Given the description of an element on the screen output the (x, y) to click on. 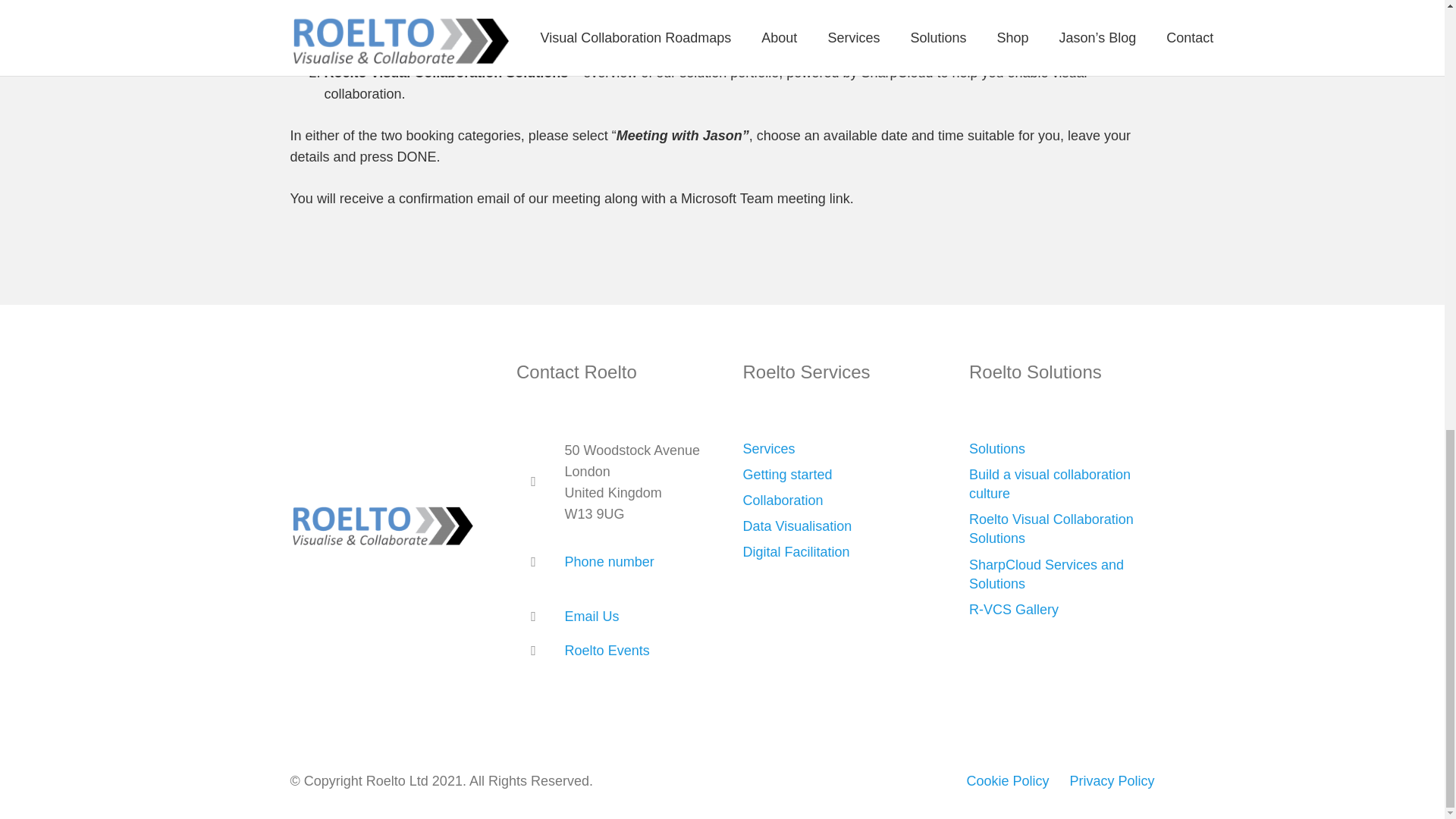
Build a visual collaboration culture (1050, 483)
Email Us (592, 616)
Data Visualisation (796, 525)
Getting started (786, 474)
Collaboration (782, 500)
Phone number (608, 561)
Roelto Visual Collaboration Solutions (1051, 528)
Roelto Events (606, 650)
Solutions (997, 448)
Services (768, 448)
Digital Facilitation (795, 552)
